Given the description of an element on the screen output the (x, y) to click on. 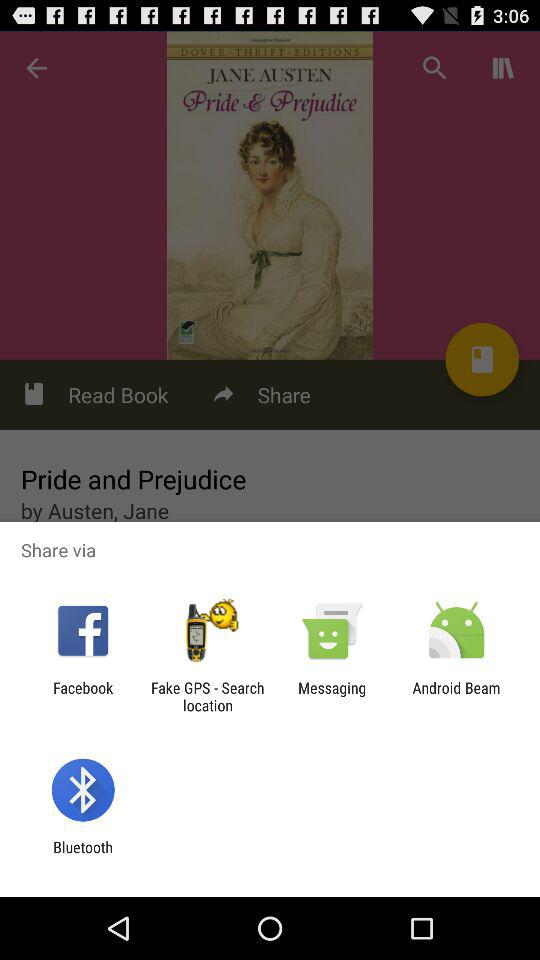
tap item next to the facebook item (207, 696)
